Given the description of an element on the screen output the (x, y) to click on. 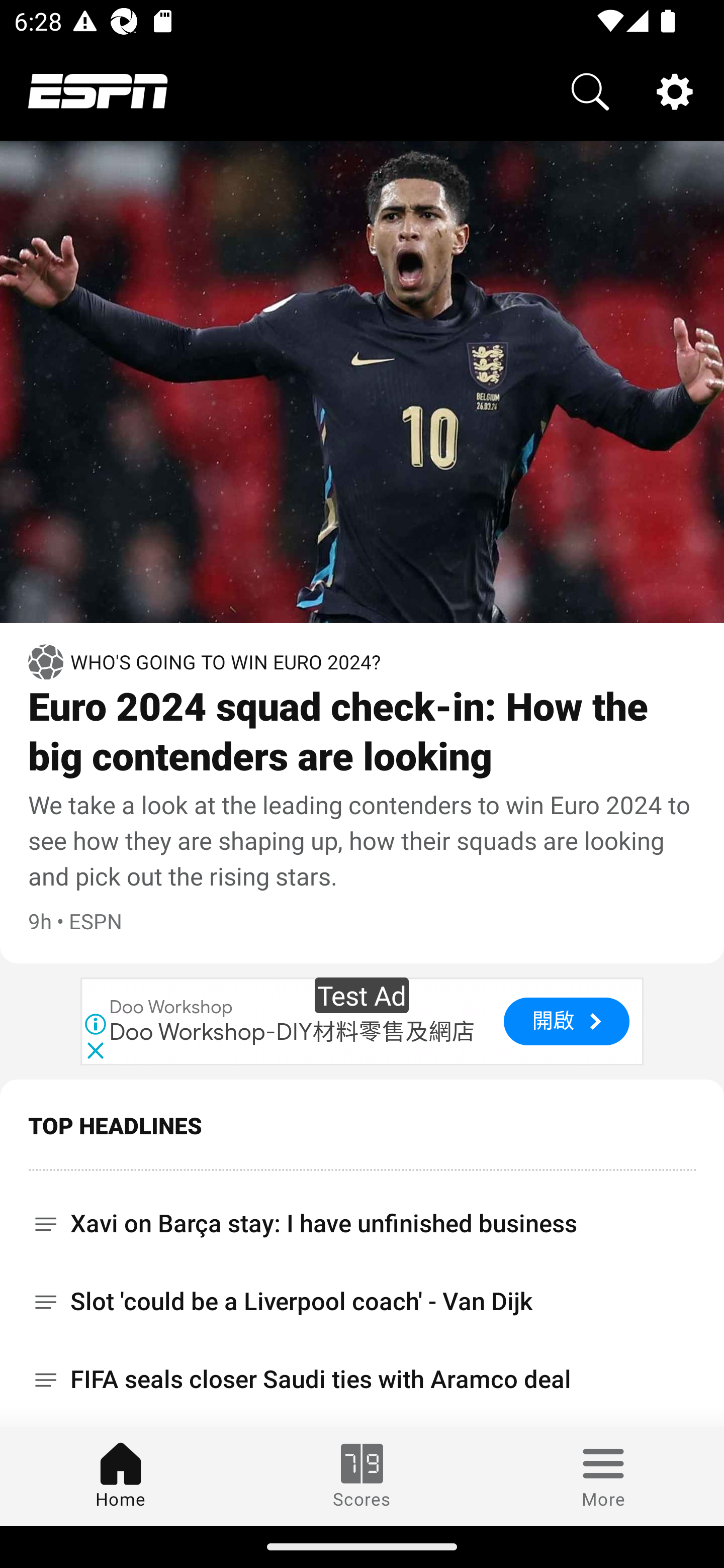
Search (590, 90)
Settings (674, 90)
 Xavi on Barça stay: I have unfinished business (362, 1216)
 Slot 'could be a Liverpool coach' - Van Dijk (362, 1301)
 FIFA seals closer Saudi ties with Aramco deal (362, 1379)
Scores (361, 1475)
More (603, 1475)
